Given the description of an element on the screen output the (x, y) to click on. 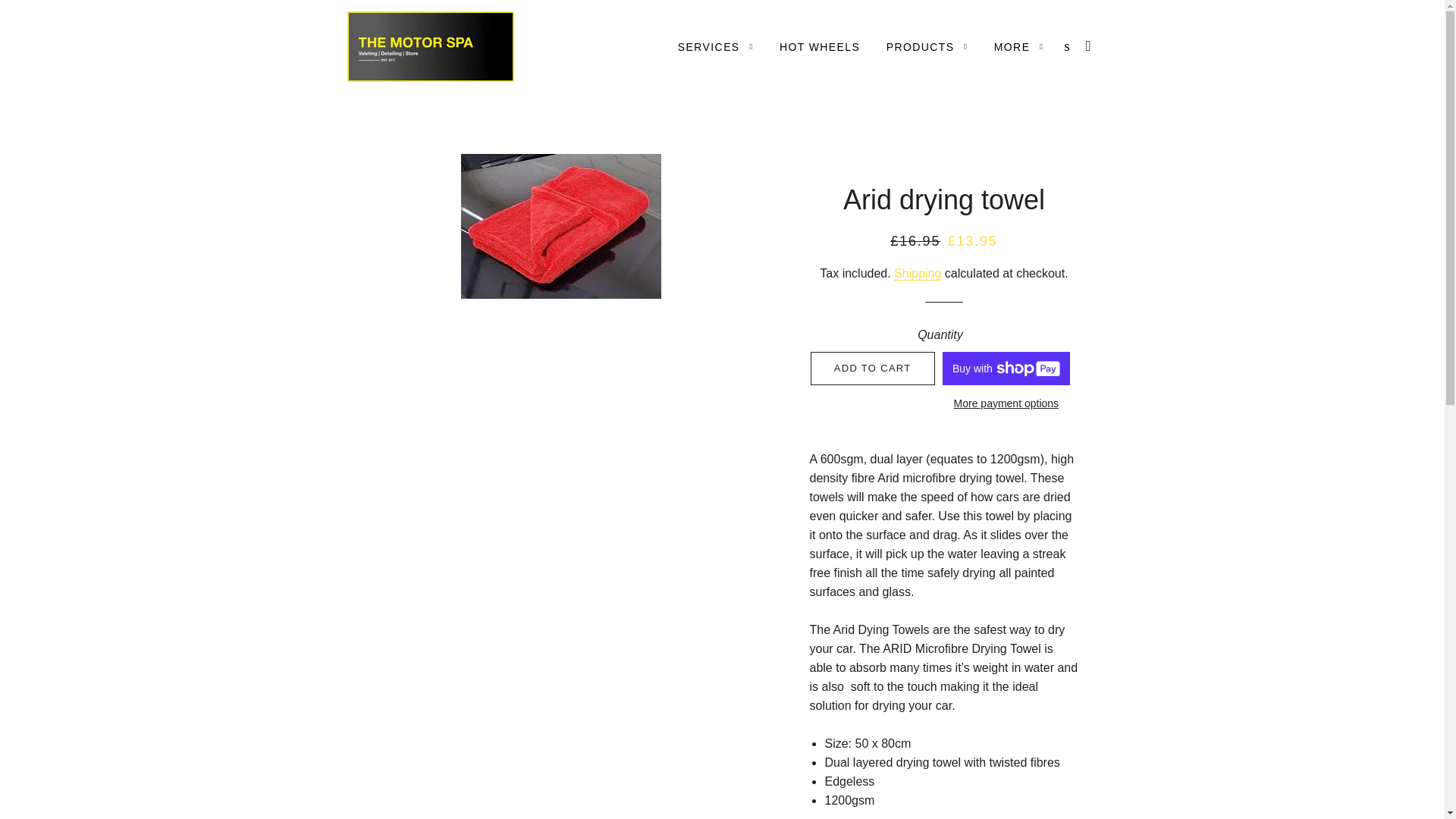
SERVICES (715, 47)
